Given the description of an element on the screen output the (x, y) to click on. 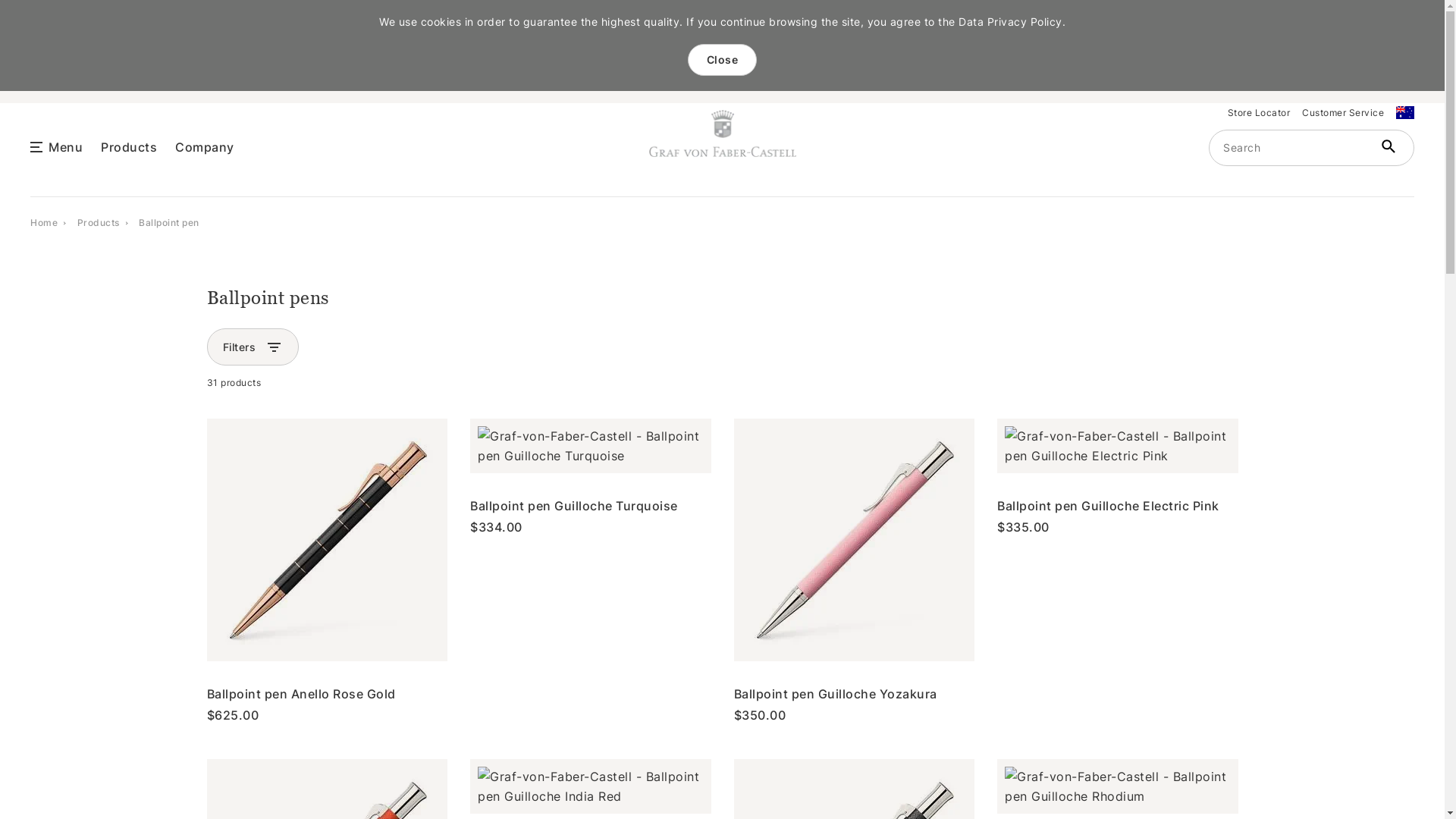
Customer Service Element type: text (1342, 112)
Products Element type: text (98, 221)
145267_0_PM99 Element type: hover (855, 539)
Filters Element type: text (239, 346)
145215_0_PM99 Element type: hover (590, 445)
145266_0_PM99 Element type: hover (590, 786)
Store Locator Element type: text (1257, 112)
Ballpoint pen Guilloche Turquoise
$334.00 Element type: text (590, 476)
Products Element type: text (128, 146)
Ballpoint pen Anello Rose Gold
$625.00 Element type: text (326, 570)
Ballpoint pen Guilloche Electric Pink
$335.00 Element type: text (1117, 476)
Close Element type: text (722, 59)
146534_0_PM99 Element type: hover (1117, 786)
Ballpoint pen Guilloche Yozakura
$350.00 Element type: text (854, 570)
Menu Element type: text (65, 145)
navi-graf-von-faber-castell-Logo-130px Element type: hover (722, 132)
Home Element type: text (43, 221)
145694_0_PM99 Element type: hover (327, 539)
145217_0_PM99 Element type: hover (1117, 445)
Company Element type: text (204, 146)
